Given the description of an element on the screen output the (x, y) to click on. 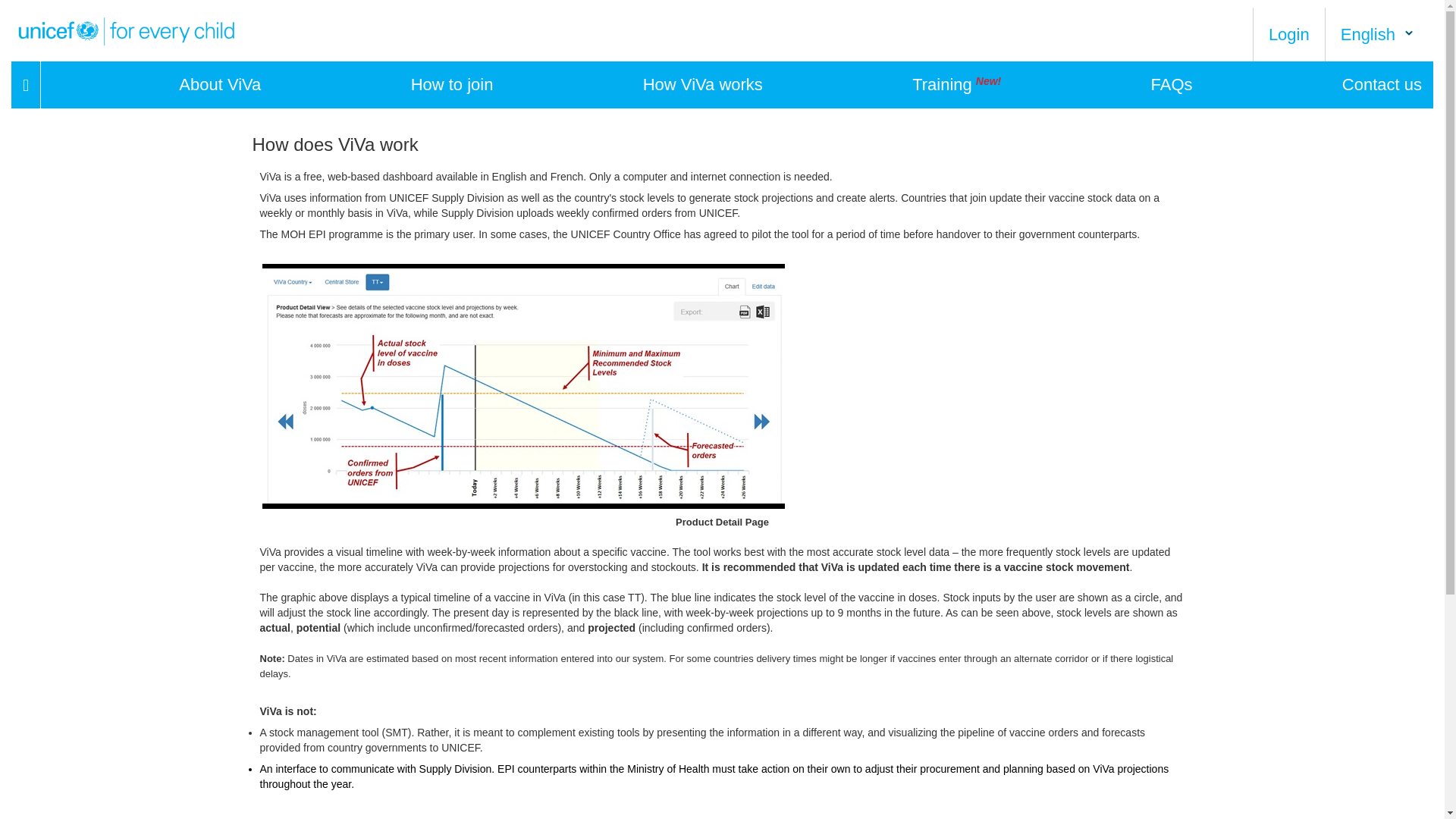
FAQs (1171, 84)
TrainingNew! (956, 84)
Contact us (1382, 84)
How ViVa works (702, 84)
How to join (451, 84)
About ViVa (219, 84)
Login (1288, 34)
